Given the description of an element on the screen output the (x, y) to click on. 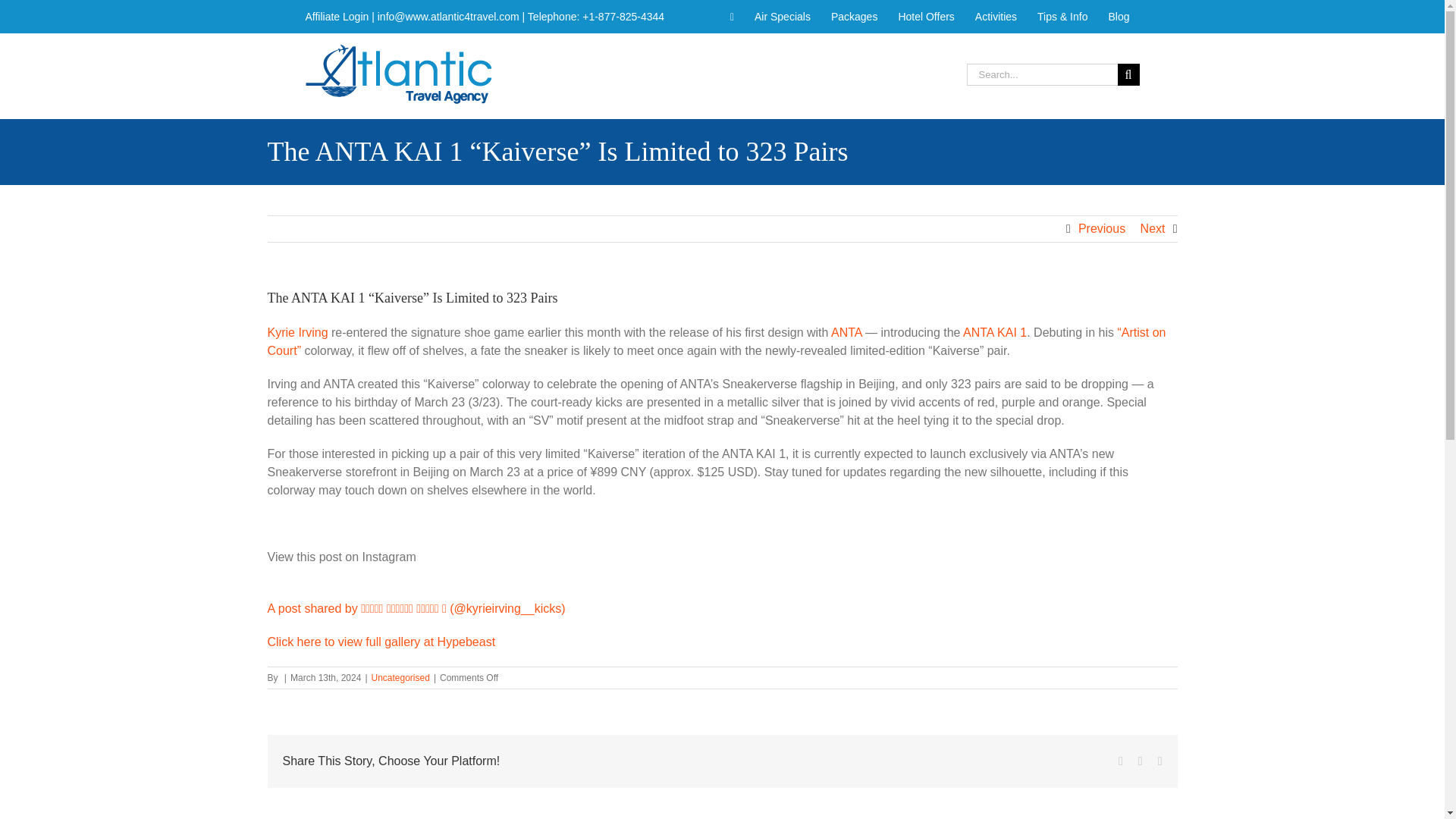
Next (1153, 228)
Affiliate Login (336, 16)
Click here to view full gallery at Hypebeast (380, 641)
The ANTA KAI 1 "Kaiverse" Is Limited to 323 Pairs (380, 641)
Kyrie Irving (296, 332)
Blog (1117, 16)
Hotel Offers (925, 16)
ANTA (846, 332)
Air Specials (782, 16)
Packages (853, 16)
Activities (995, 16)
ANTA KAI 1 (994, 332)
Previous (1101, 228)
Uncategorised (400, 677)
